Given the description of an element on the screen output the (x, y) to click on. 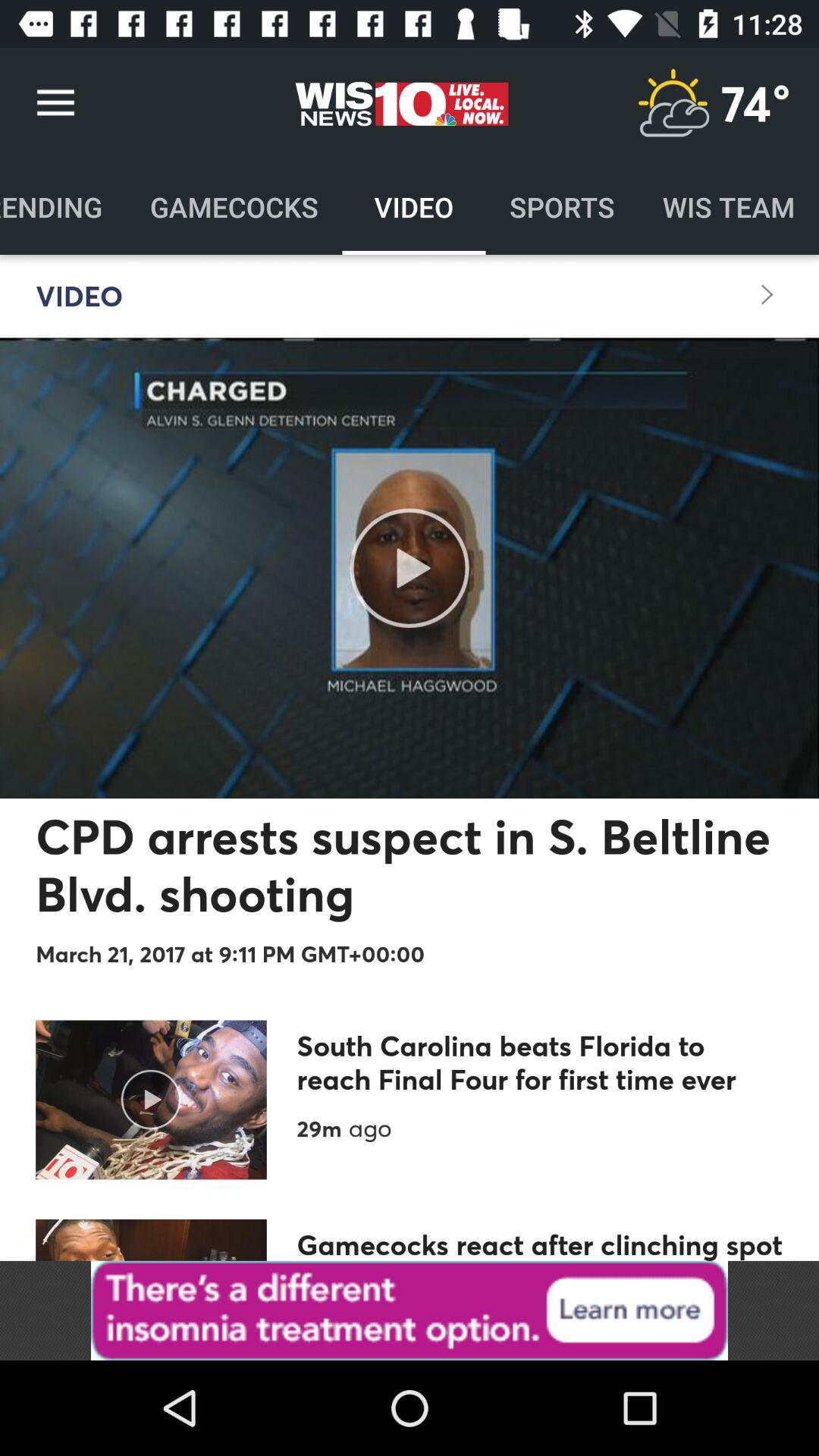
advertisement (409, 1310)
